Given the description of an element on the screen output the (x, y) to click on. 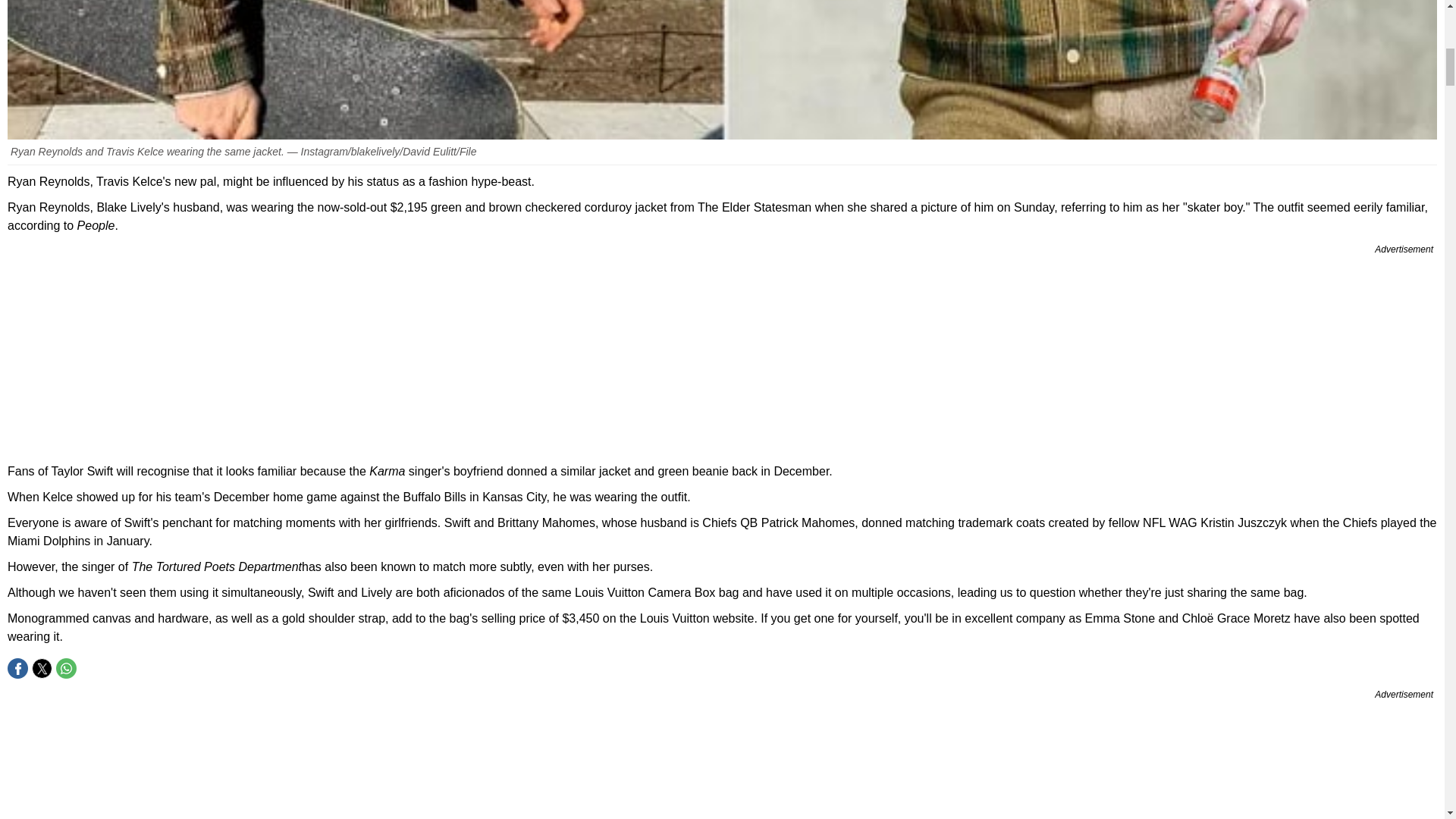
3rd party ad content (721, 354)
